Given the description of an element on the screen output the (x, y) to click on. 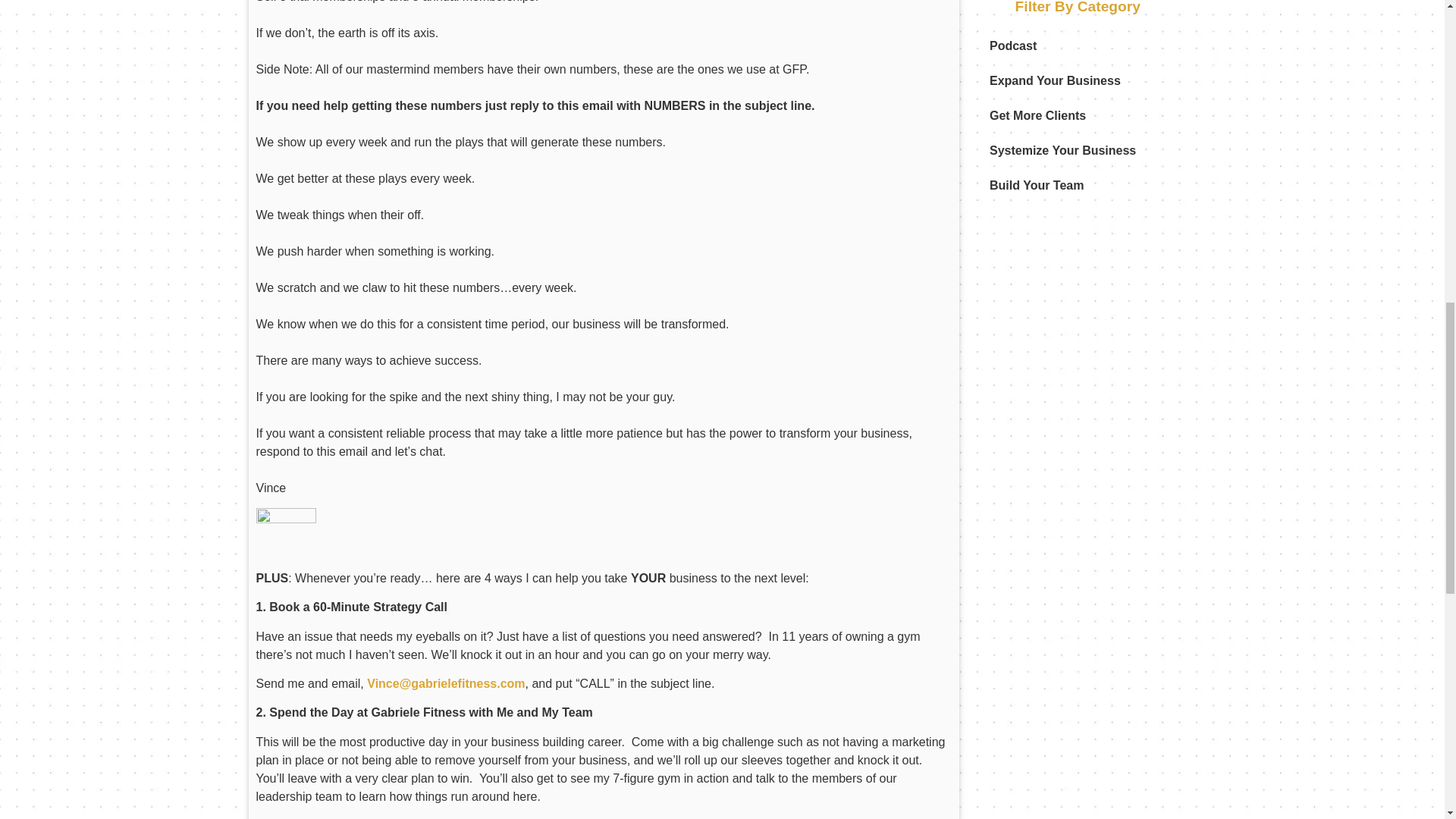
Build Your Team (1036, 185)
Podcast (1012, 45)
Get More Clients (1037, 115)
Systemize Your Business (1062, 150)
Expand Your Business (1054, 80)
